Given the description of an element on the screen output the (x, y) to click on. 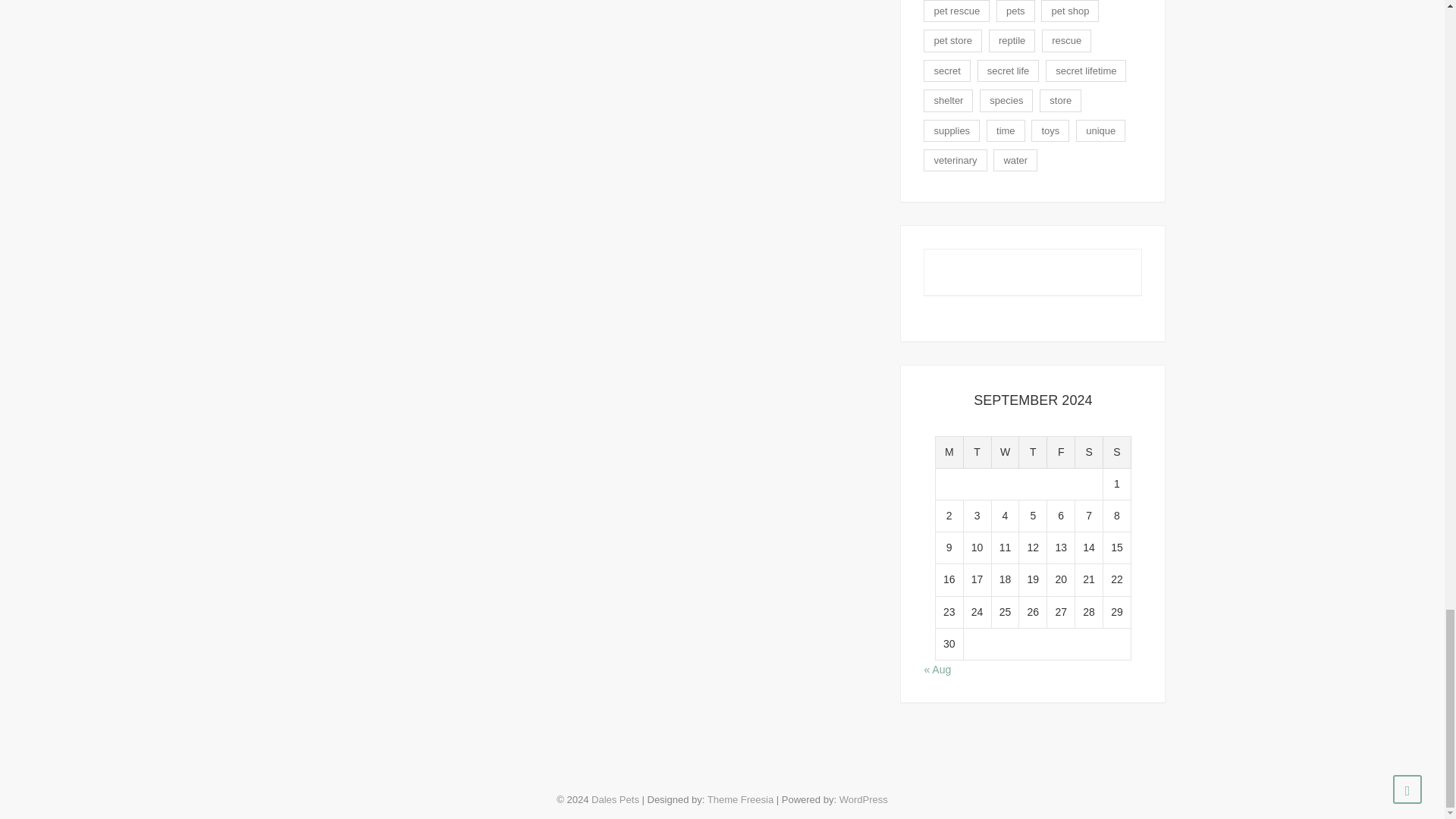
WordPress (864, 799)
Theme Freesia (740, 799)
Dales Pets (615, 799)
